Given the description of an element on the screen output the (x, y) to click on. 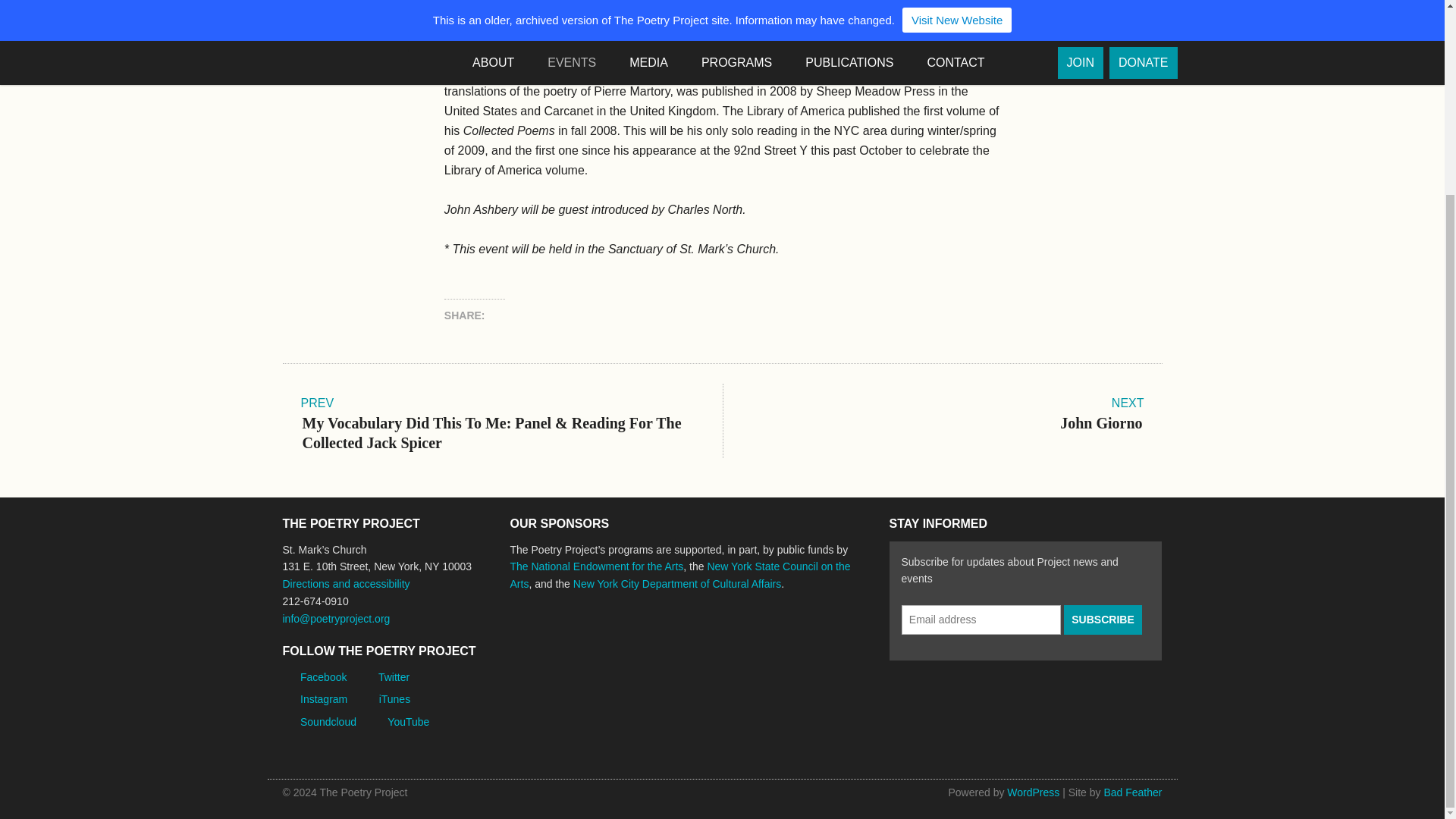
Facebook (504, 315)
Tweet (590, 315)
Facebook (504, 315)
Email (619, 315)
Pinterest (562, 315)
Subscribe (1102, 619)
